Given the description of an element on the screen output the (x, y) to click on. 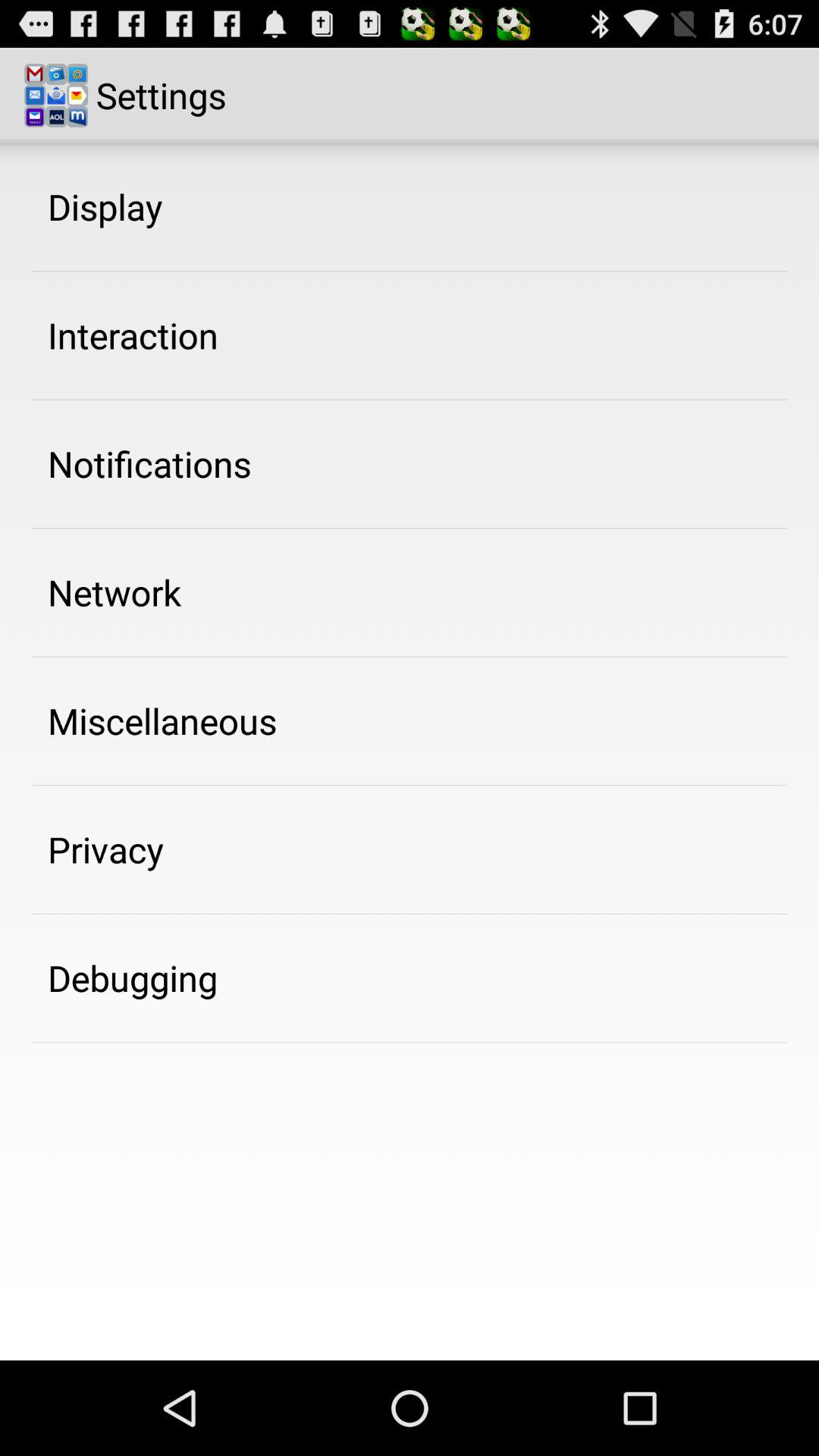
launch the icon above miscellaneous item (114, 592)
